Given the description of an element on the screen output the (x, y) to click on. 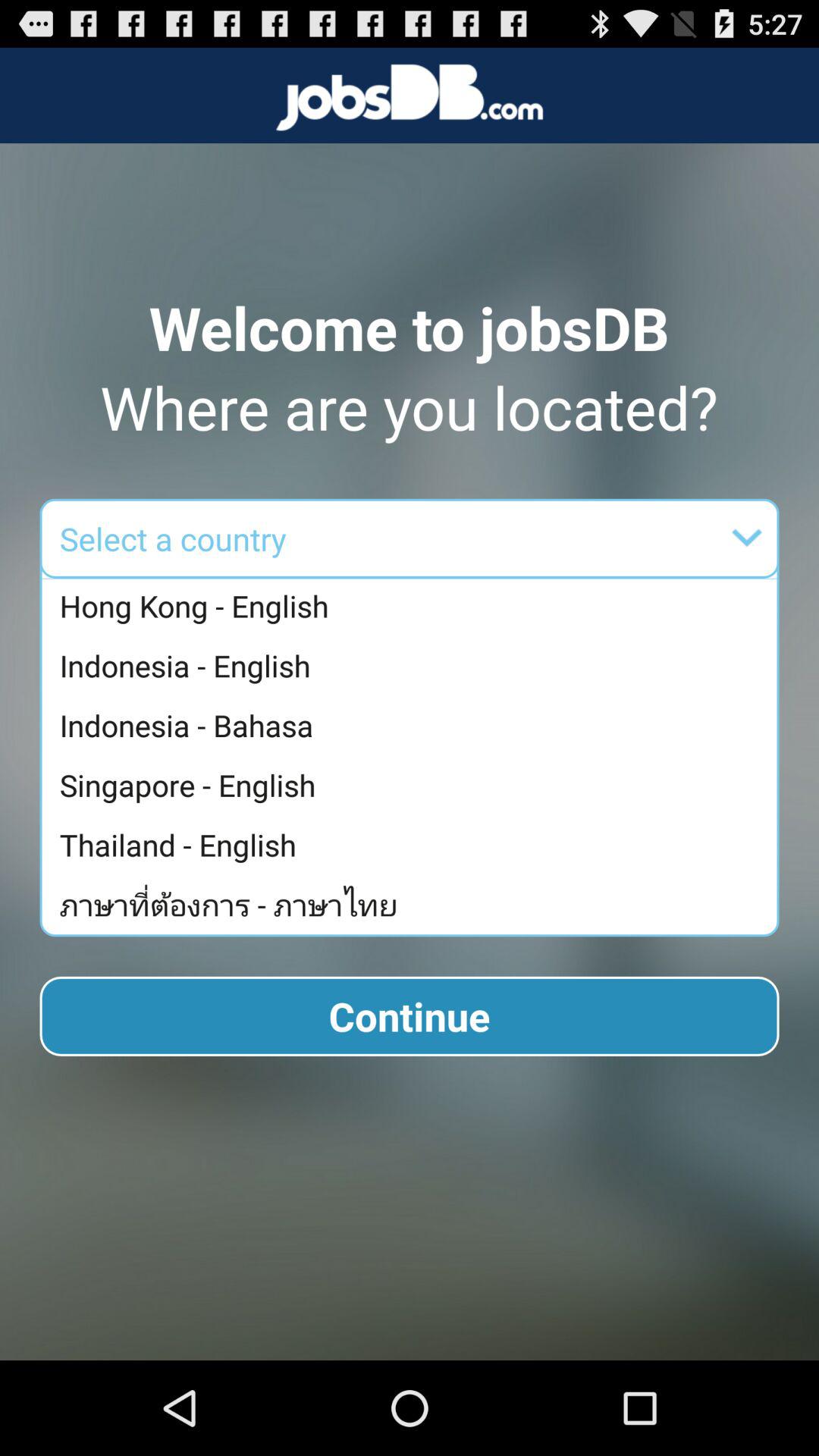
click singapore - english icon (413, 785)
